Given the description of an element on the screen output the (x, y) to click on. 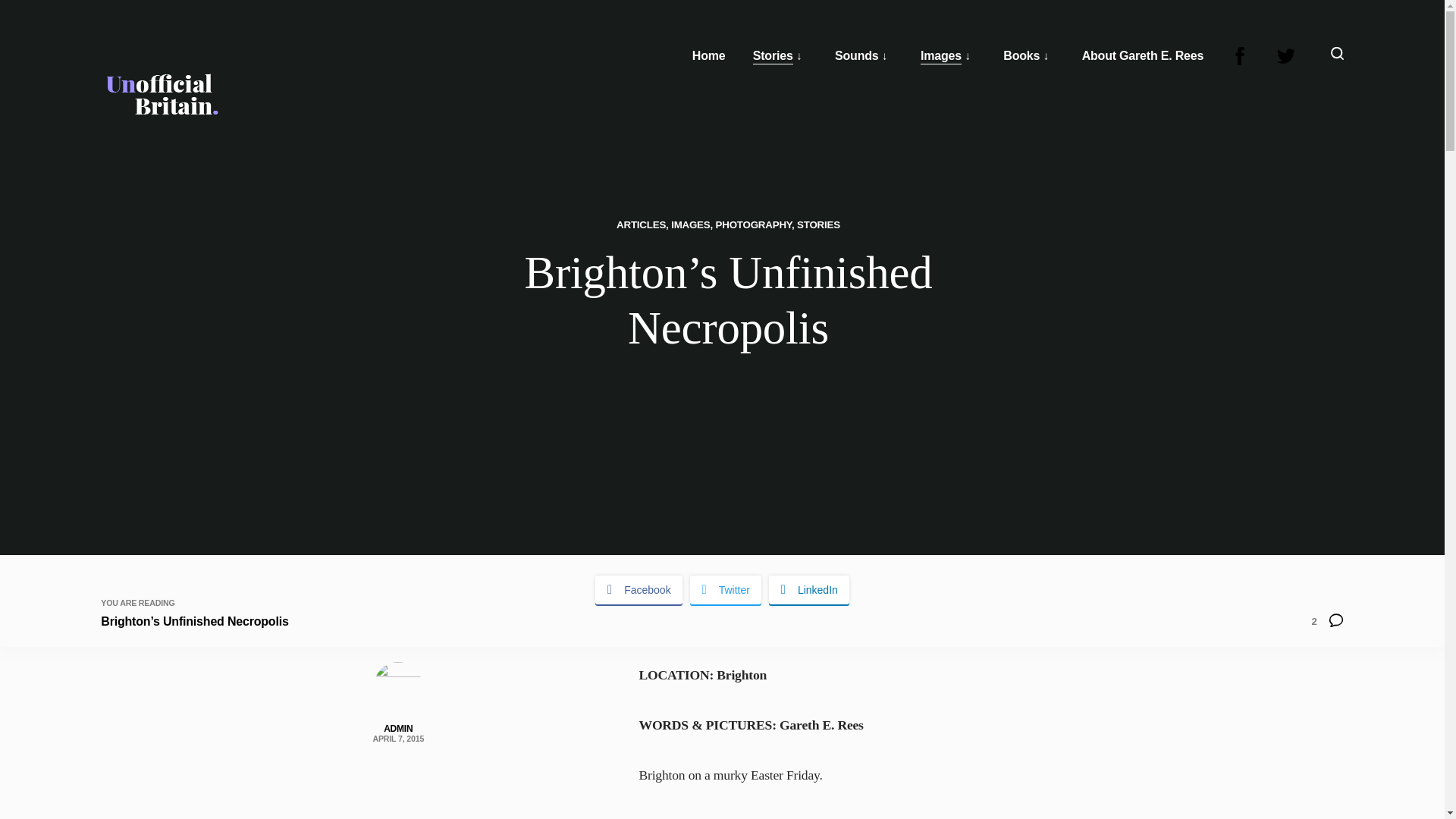
ARTICLES (640, 224)
STORIES (818, 224)
LinkedIn (808, 589)
IMAGES (690, 224)
Images (940, 56)
Home (709, 56)
Facebook (638, 589)
Stories (772, 56)
Twitter (725, 589)
Books (1021, 56)
2 (1327, 623)
About Gareth E. Rees (1142, 56)
Sounds (855, 56)
PHOTOGRAPHY (754, 224)
